Given the description of an element on the screen output the (x, y) to click on. 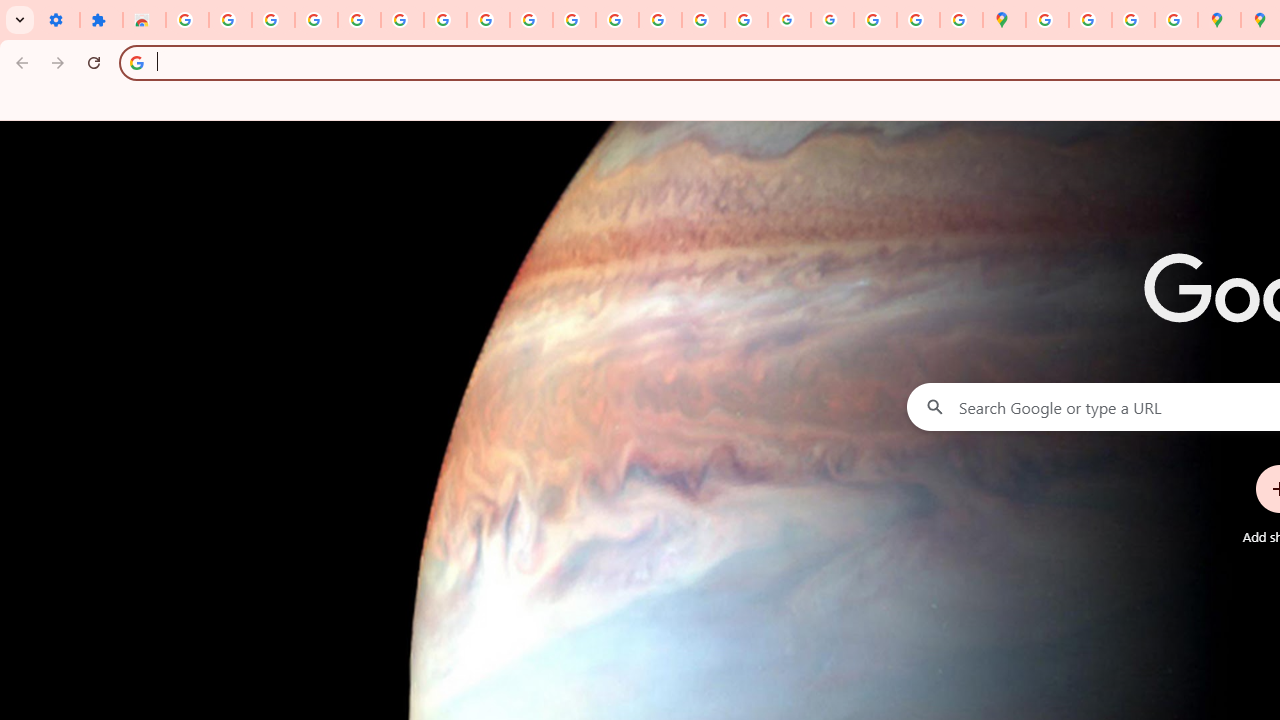
Sign in - Google Accounts (402, 20)
Safety in Our Products - Google Safety Center (1176, 20)
https://scholar.google.com/ (617, 20)
Settings - On startup (58, 20)
Google Maps (1004, 20)
Sign in - Google Accounts (187, 20)
YouTube (530, 20)
Reviews: Helix Fruit Jump Arcade Game (144, 20)
Delete photos & videos - Computer - Google Photos Help (273, 20)
